Given the description of an element on the screen output the (x, y) to click on. 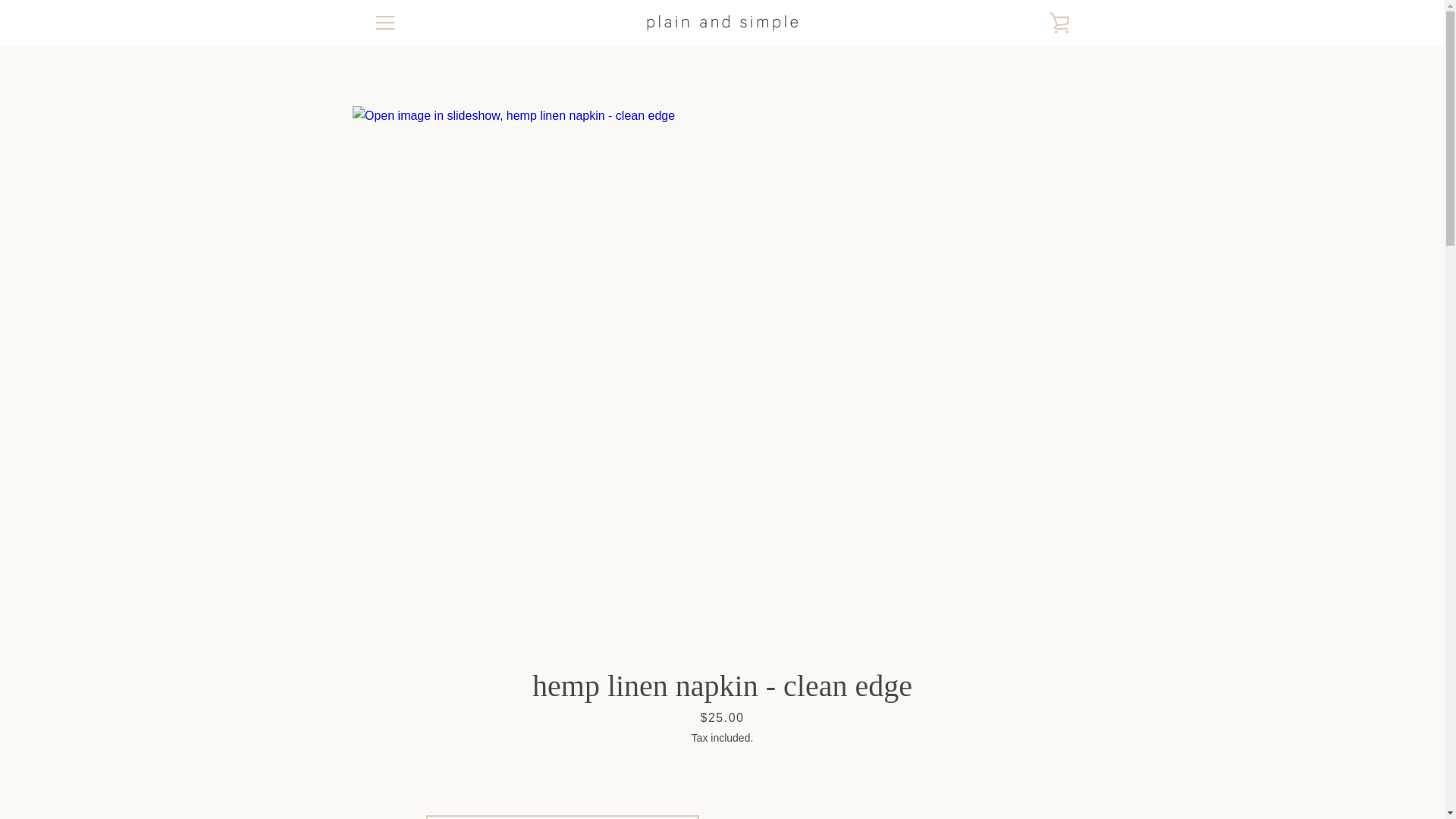
Shop Pay (988, 778)
Facebook (372, 776)
Visa (1057, 778)
RETURNS (397, 607)
SUBSCRIBE (1029, 649)
MENU (384, 22)
Union Pay (1022, 778)
www.plainandsimple.eco on Instagram (399, 776)
Mastercard (918, 778)
